Given the description of an element on the screen output the (x, y) to click on. 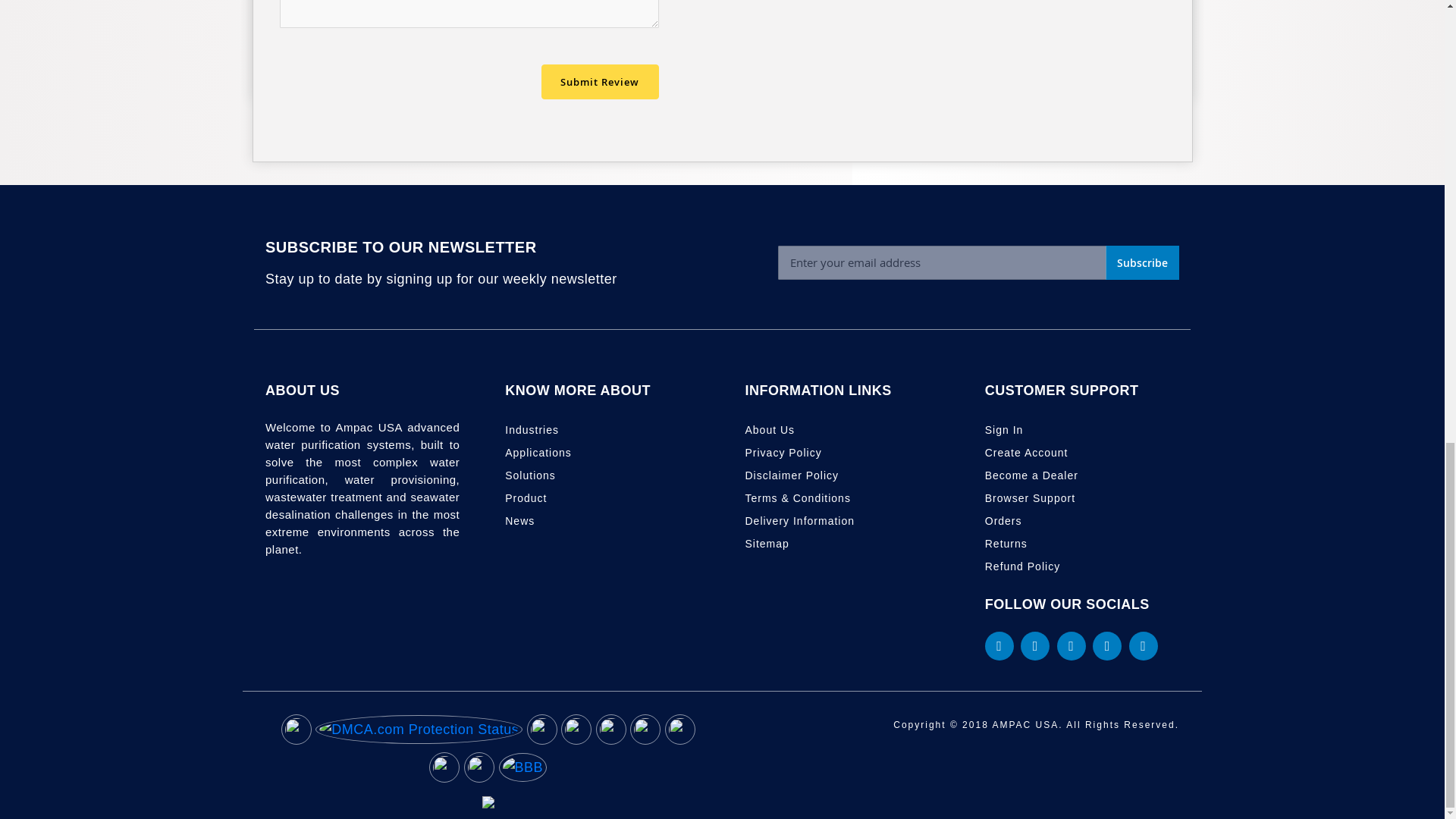
BBB (523, 767)
BBB (523, 770)
DMCA.com Protection Status (418, 732)
Subscribe (1142, 262)
